Given the description of an element on the screen output the (x, y) to click on. 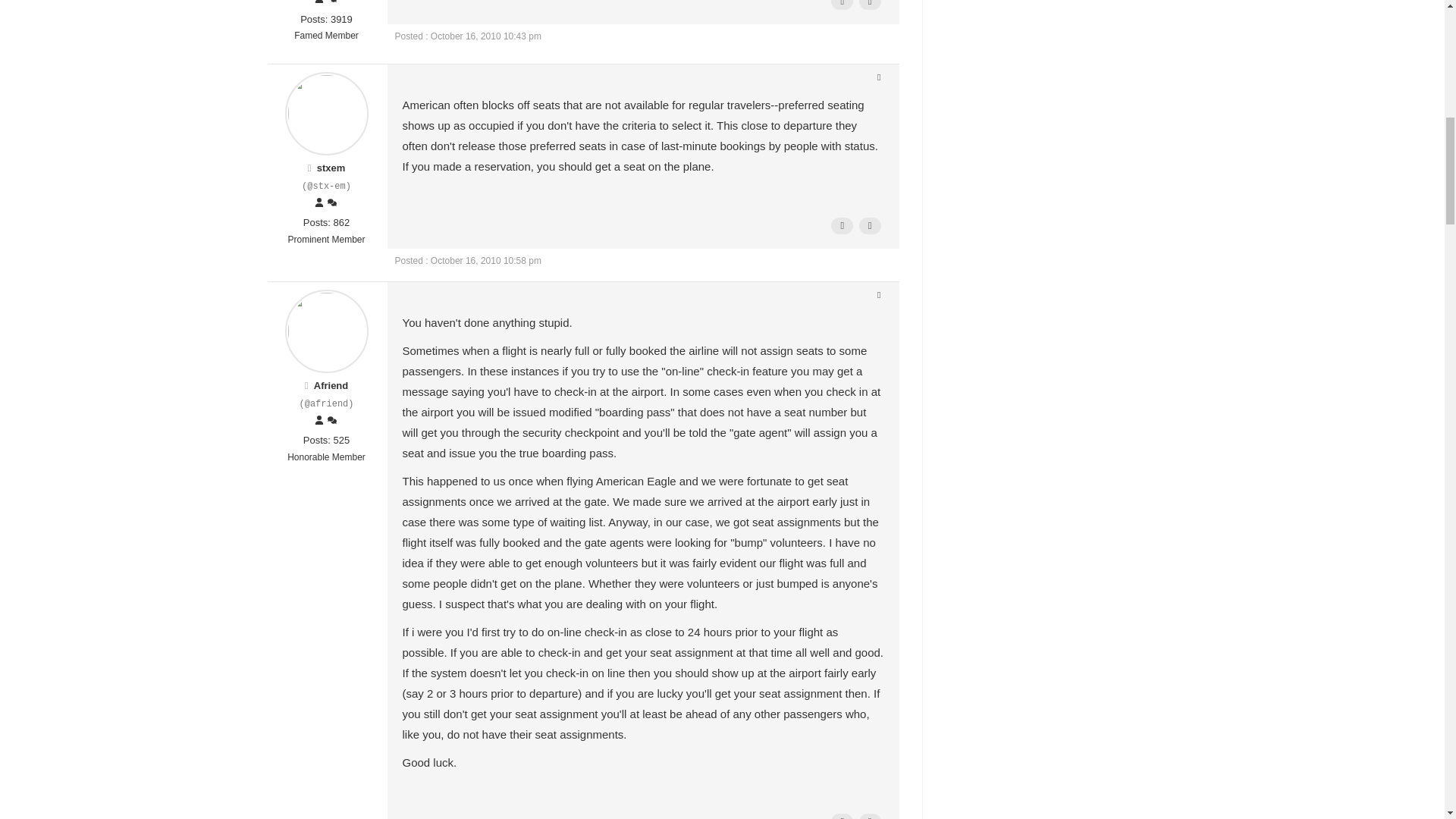
Profile (319, 2)
